Given the description of an element on the screen output the (x, y) to click on. 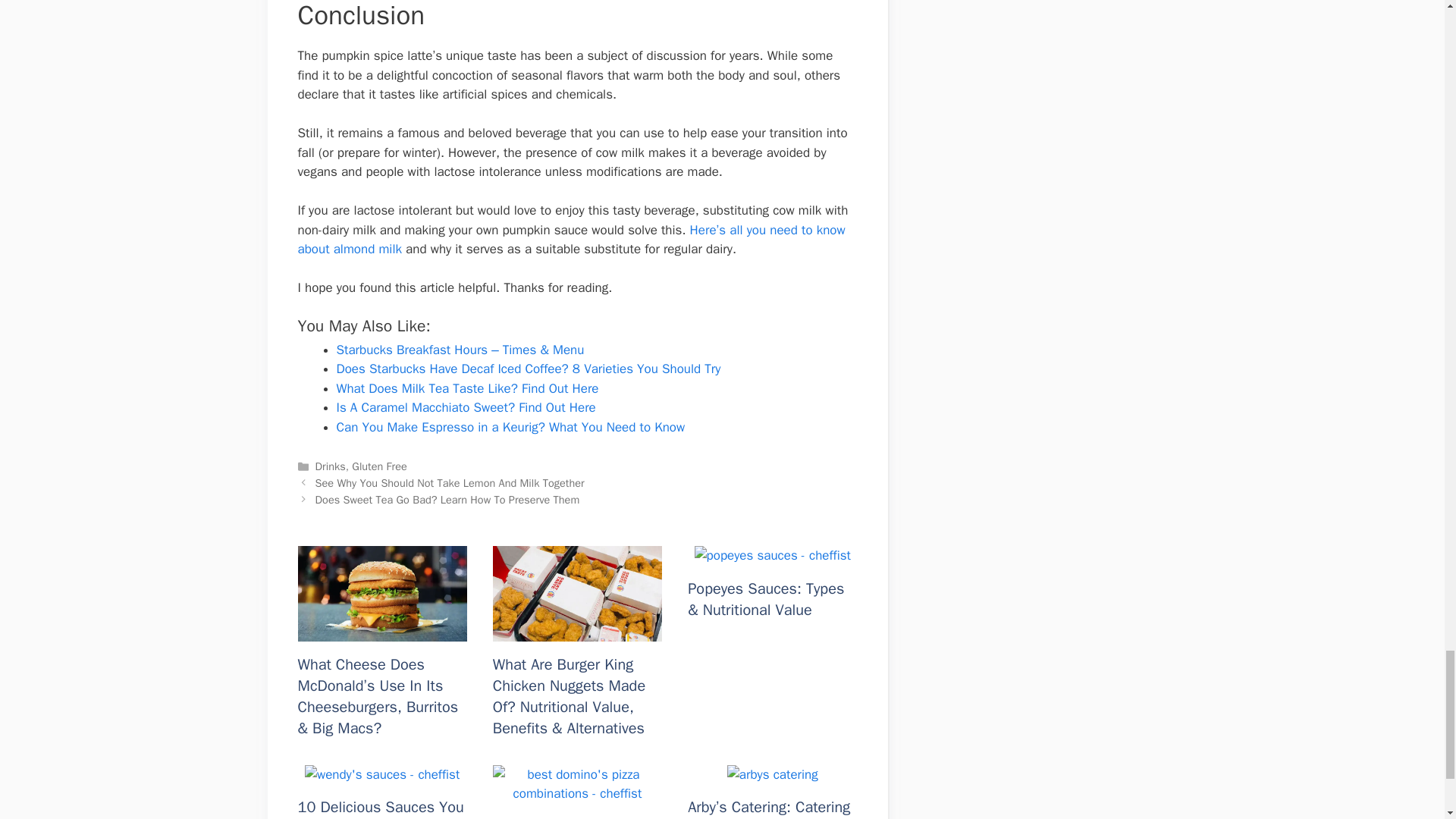
See Why You Should Not Take Lemon And Milk Together (450, 482)
Does Sweet Tea Go Bad? Learn How To Preserve Them (447, 499)
What Does Milk Tea Taste Like? Find Out Here (467, 388)
Is A Caramel Macchiato Sweet? Find Out Here (465, 407)
Drinks (330, 466)
Gluten Free (379, 466)
Can You Make Espresso in a Keurig? What You Need to Know (510, 426)
What Does Milk Tea Taste Like? Find Out Here (467, 388)
Can You Make Espresso in a Keurig? What You Need to Know (510, 426)
Is A Caramel Macchiato Sweet? Find Out Here (465, 407)
